Given the description of an element on the screen output the (x, y) to click on. 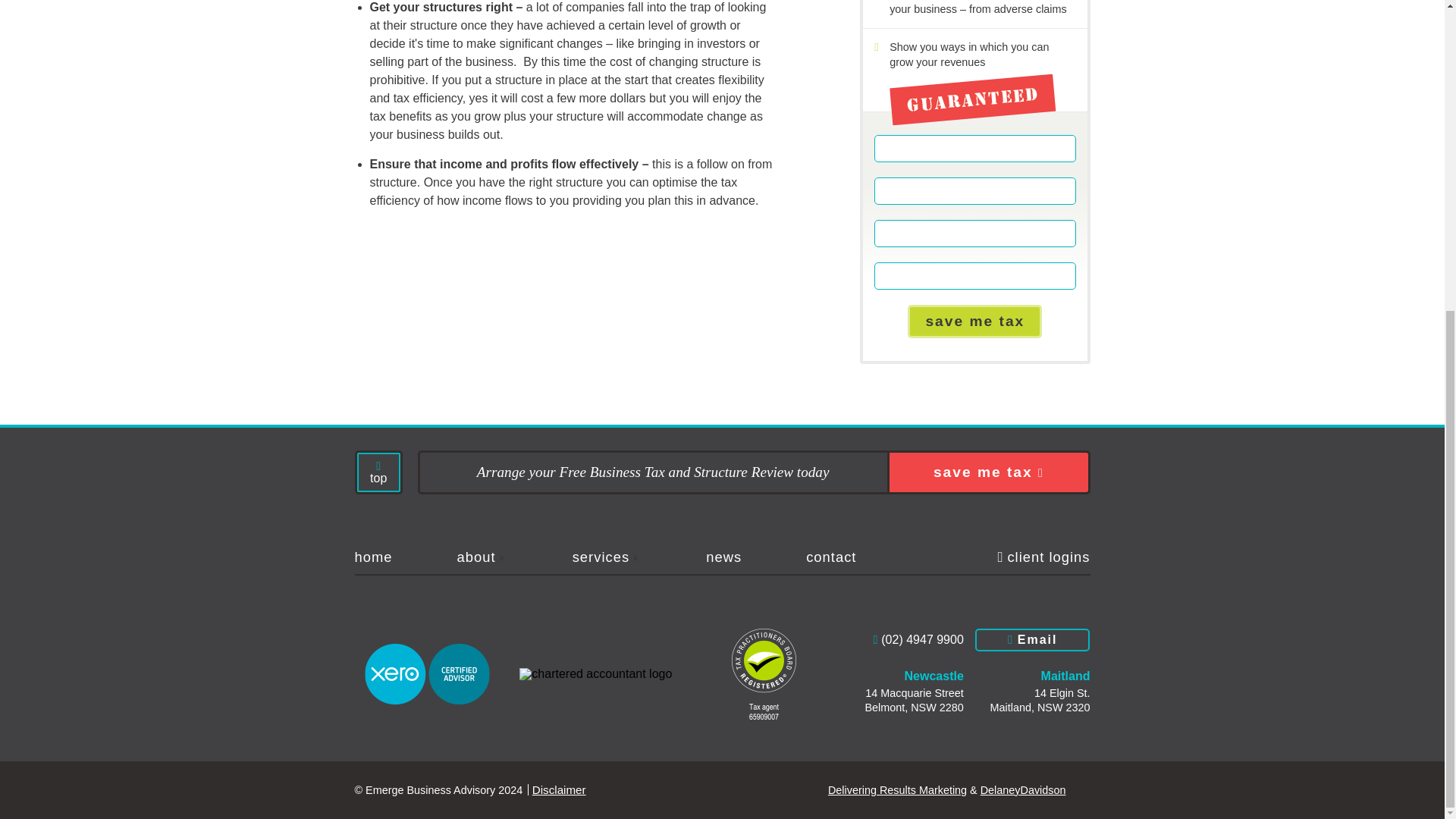
client logins (1043, 556)
about (507, 556)
services (631, 556)
save me tax (974, 321)
contact (855, 556)
save me tax (986, 472)
news (748, 556)
Newcastle web design DelaneyDavidson (1034, 789)
home (398, 556)
save me tax (974, 321)
